Given the description of an element on the screen output the (x, y) to click on. 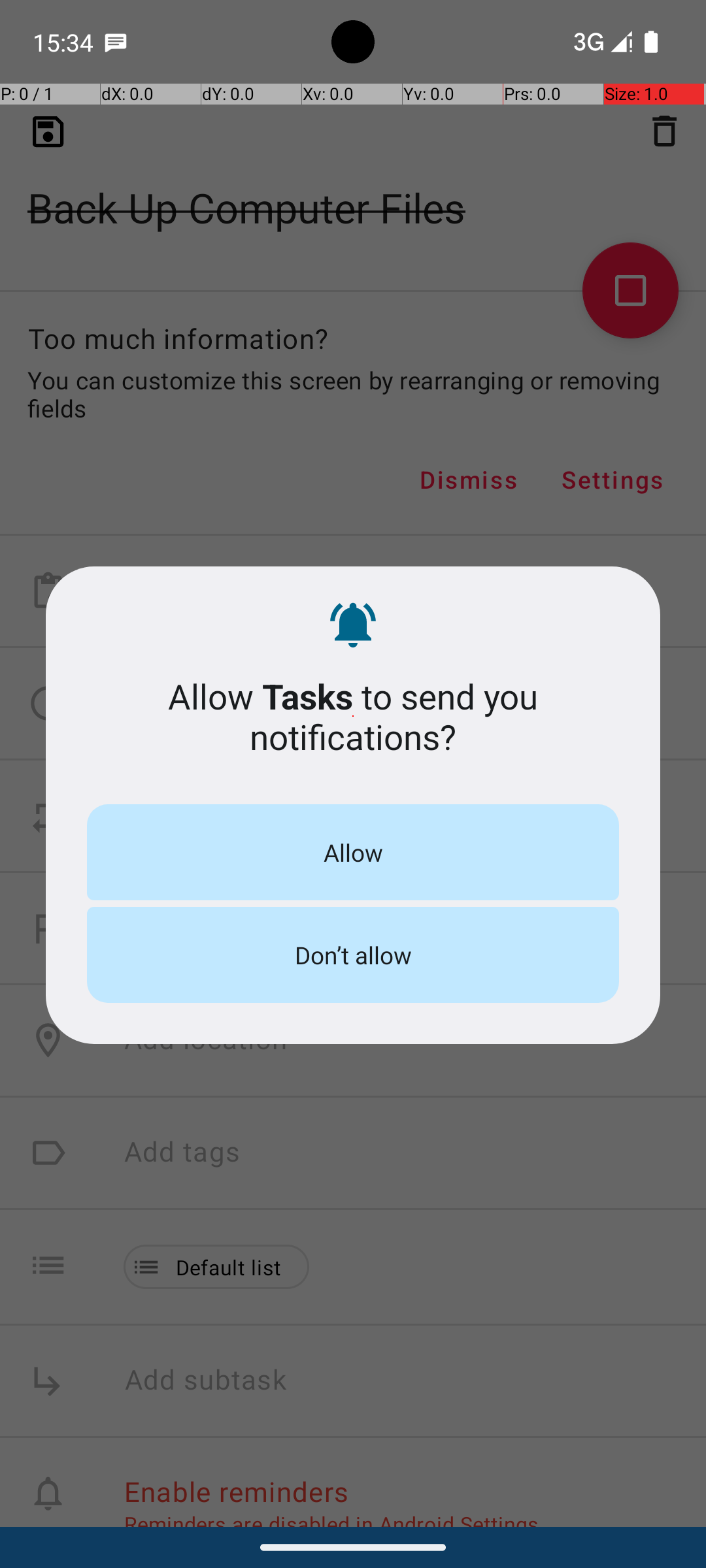
Allow Tasks to send you notifications? Element type: android.widget.TextView (352, 715)
Allow Element type: android.widget.Button (352, 852)
